Given the description of an element on the screen output the (x, y) to click on. 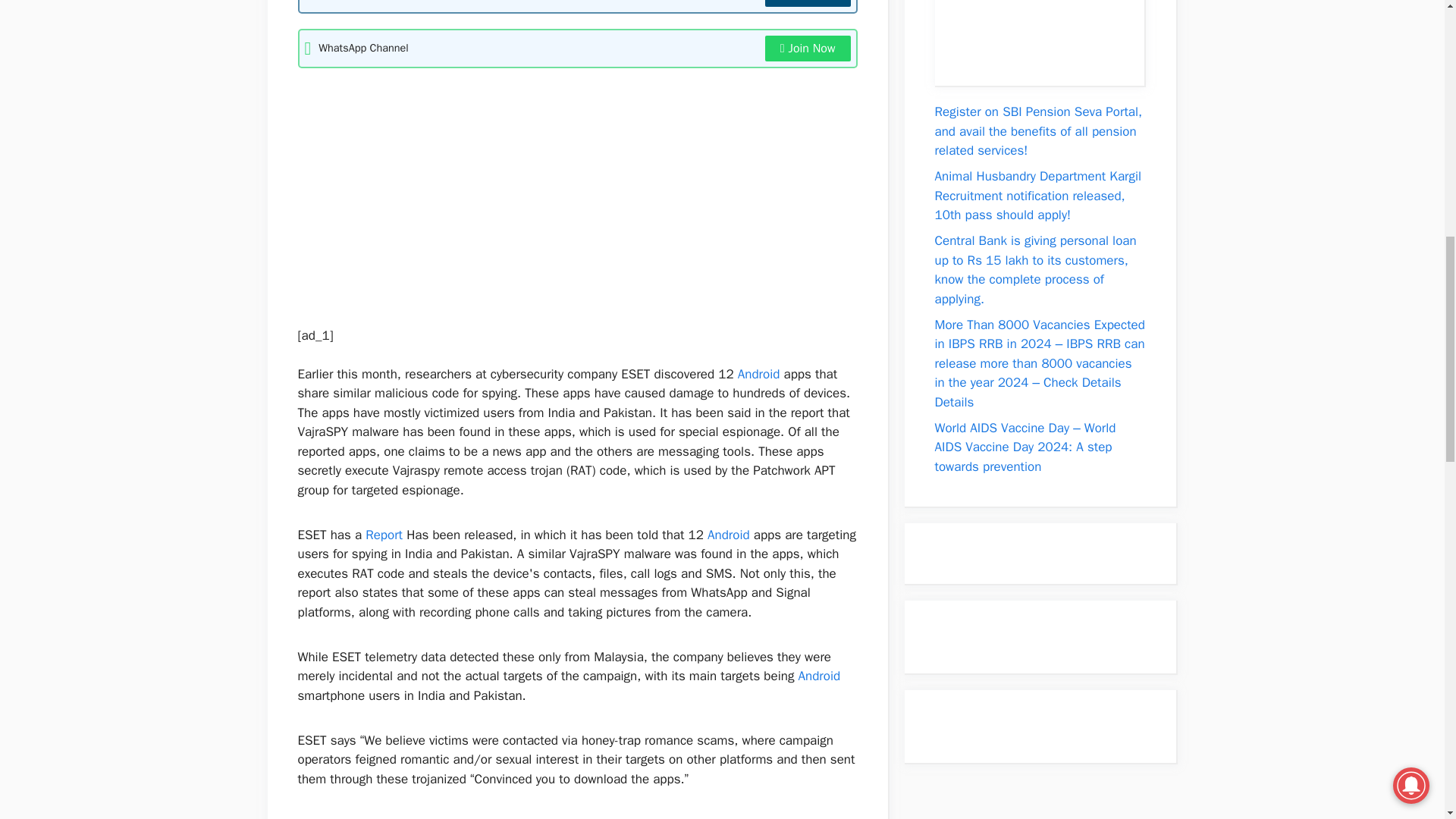
Android (818, 675)
Join Now (807, 3)
Android (728, 534)
Advertisement (569, 189)
Join Now (807, 48)
Report (384, 534)
Android (759, 374)
